Given the description of an element on the screen output the (x, y) to click on. 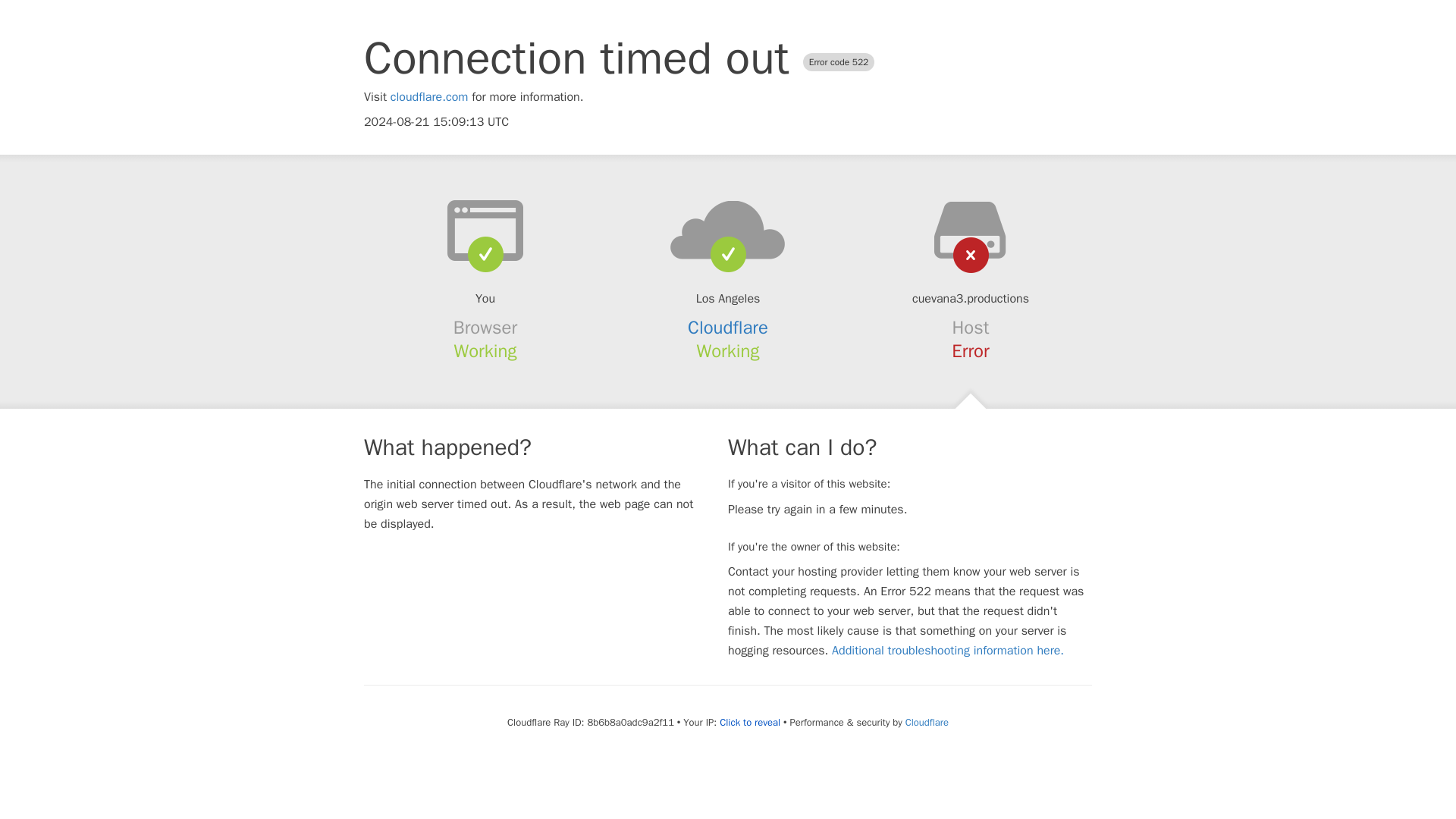
Cloudflare (727, 327)
cloudflare.com (429, 96)
Click to reveal (749, 722)
Cloudflare (927, 721)
Additional troubleshooting information here. (947, 650)
